Given the description of an element on the screen output the (x, y) to click on. 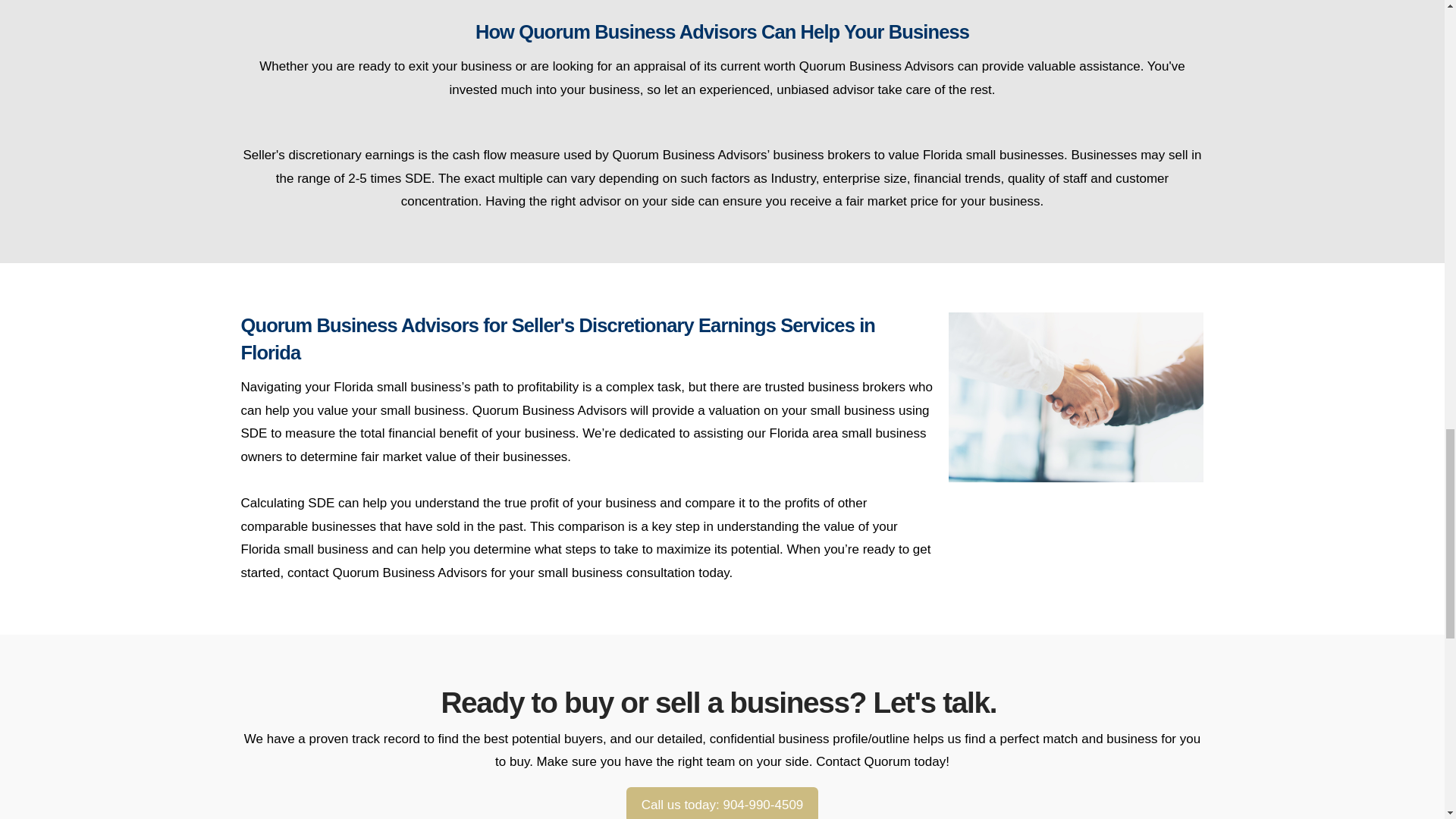
Call us today: 904-990-4509 (721, 803)
